Given the description of an element on the screen output the (x, y) to click on. 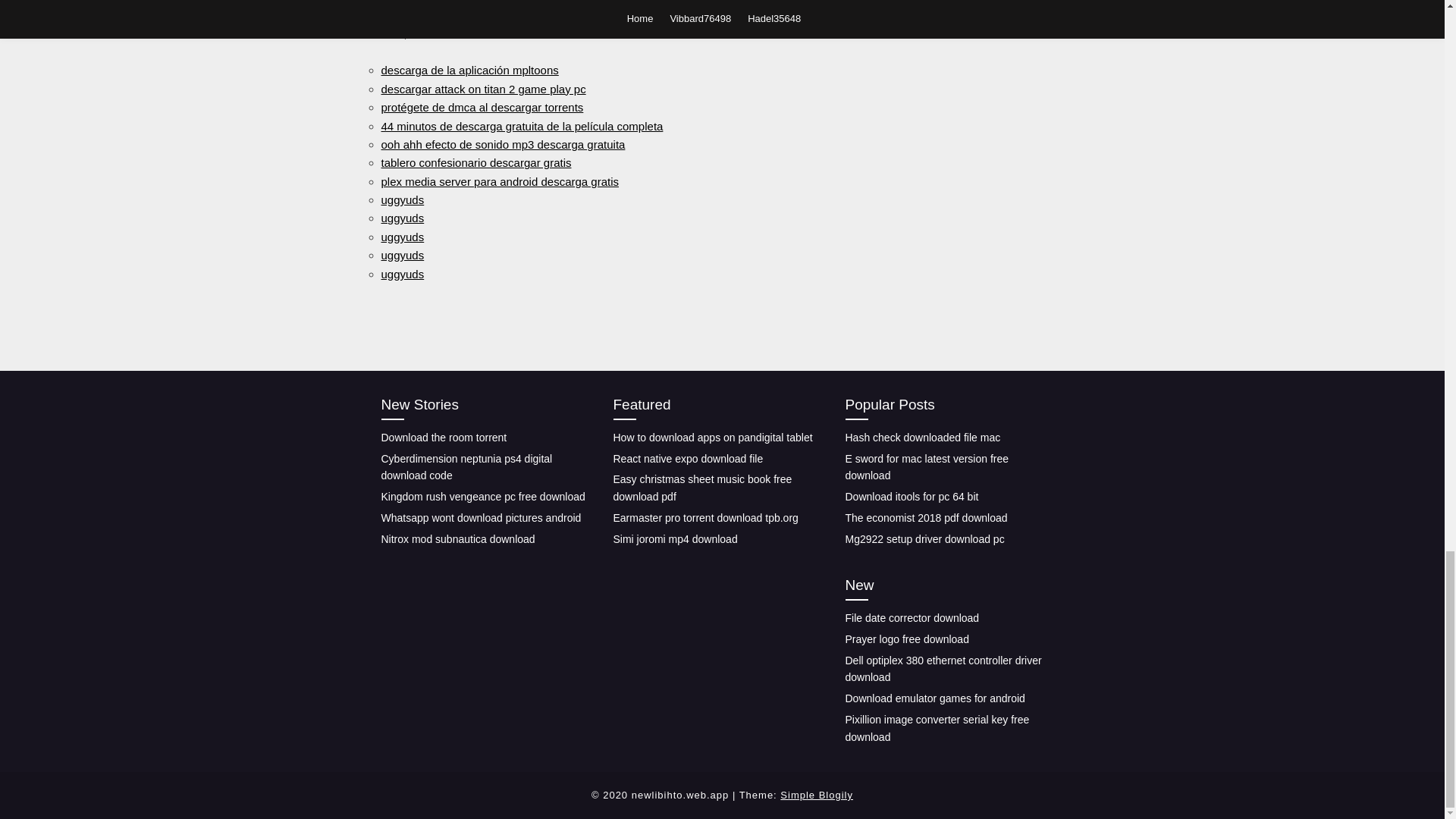
Prayer logo free download (906, 639)
Download itools for pc 64 bit (911, 496)
uggyuds (401, 273)
Pixillion image converter serial key free download (936, 727)
Mg2922 setup driver download pc (924, 538)
uggyuds (401, 254)
uggyuds (401, 199)
Dell optiplex 380 ethernet controller driver download (942, 668)
Download emulator games for android (934, 698)
The economist 2018 pdf download (925, 517)
uggyuds (401, 217)
How to download apps on pandigital tablet (712, 437)
Cyberdimension neptunia ps4 digital download code (465, 466)
tablero confesionario descargar gratis (475, 162)
Easy christmas sheet music book free download pdf (702, 487)
